Given the description of an element on the screen output the (x, y) to click on. 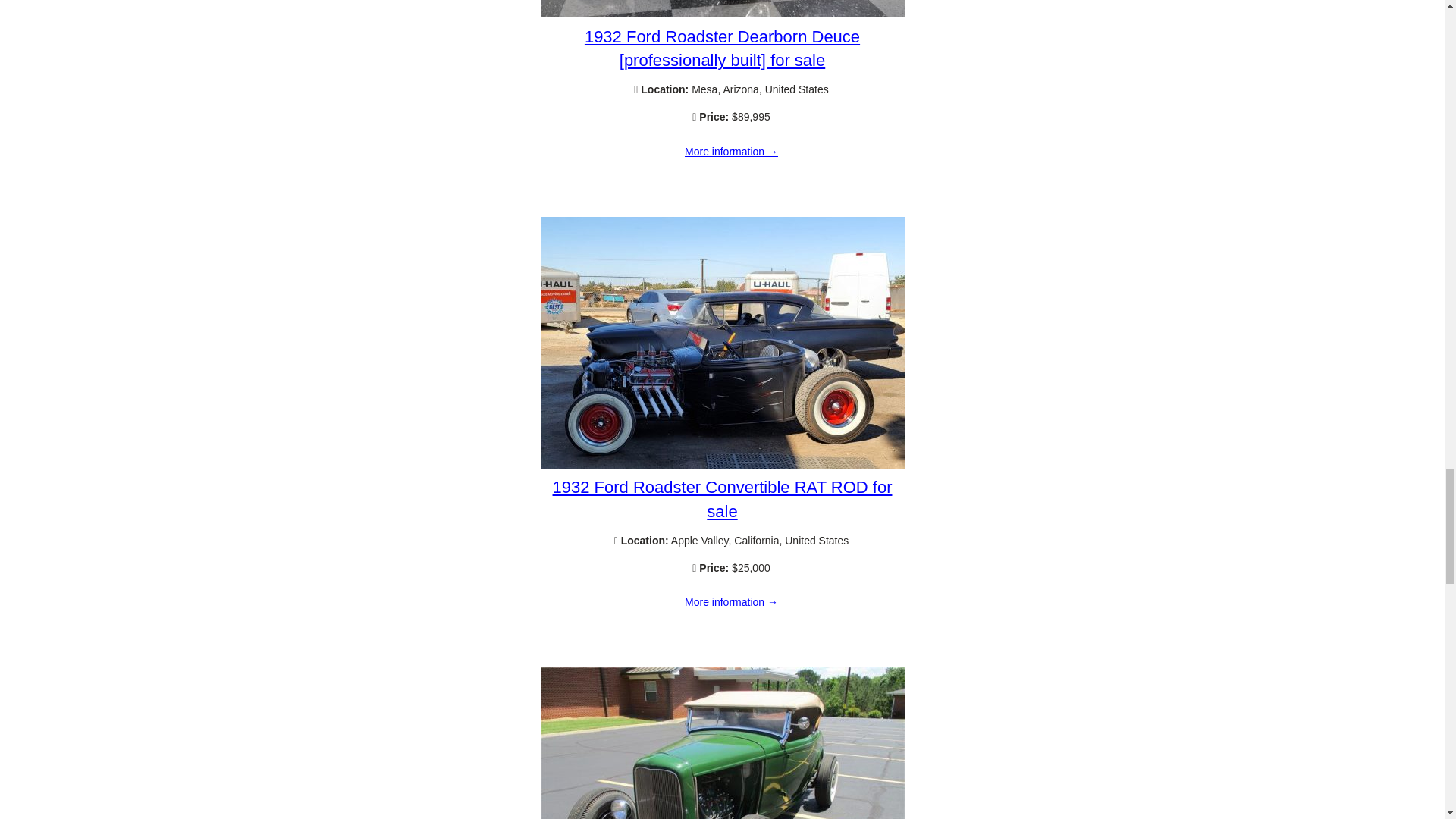
1932 Ford Roadster Convertible RAT ROD for sale (722, 498)
1932 Ford Roadster Convertible RAT ROD for sale (731, 602)
1932 Ford Roadster Convertible RAT ROD for sale (722, 464)
